Given the description of an element on the screen output the (x, y) to click on. 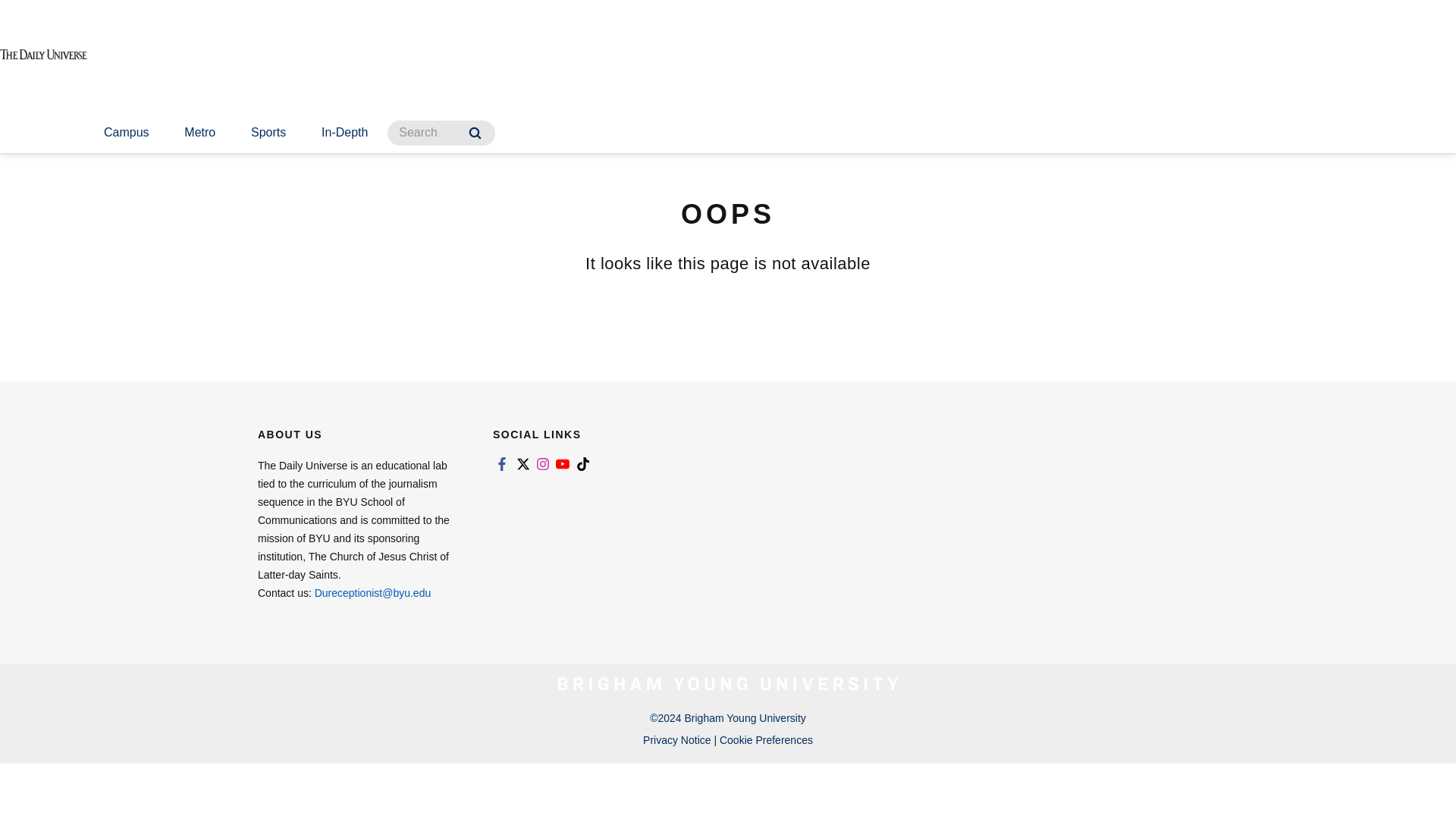
Link to facebook (502, 463)
Link to instagram (542, 463)
Campus (126, 133)
Link to twitter (522, 463)
Link to youtube (562, 463)
Cookie Preferences (765, 739)
Search (474, 132)
Metro (199, 133)
Link to tiktok (582, 463)
Sports (268, 133)
In-Depth (344, 133)
Privacy Notice (676, 739)
